Given the description of an element on the screen output the (x, y) to click on. 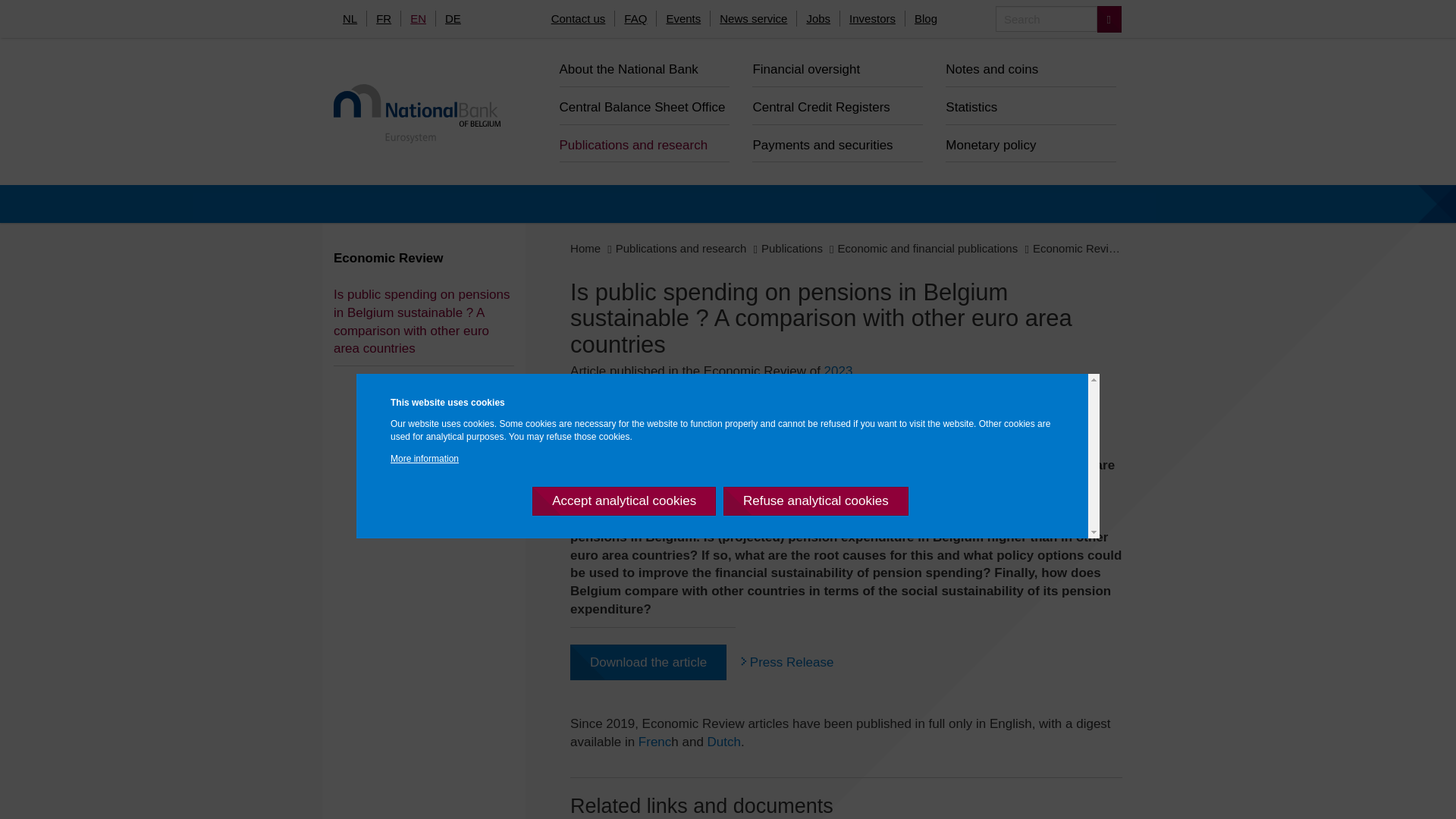
Payments and securities (831, 143)
Share this page via twitter (580, 401)
Monetary policy (1025, 143)
Home (411, 113)
Investors (866, 18)
Notes and coins (1025, 67)
Stinglhamber, P. (871, 429)
Van Parys, S. (967, 429)
Publications and research (675, 247)
Download the article (642, 662)
